Given the description of an element on the screen output the (x, y) to click on. 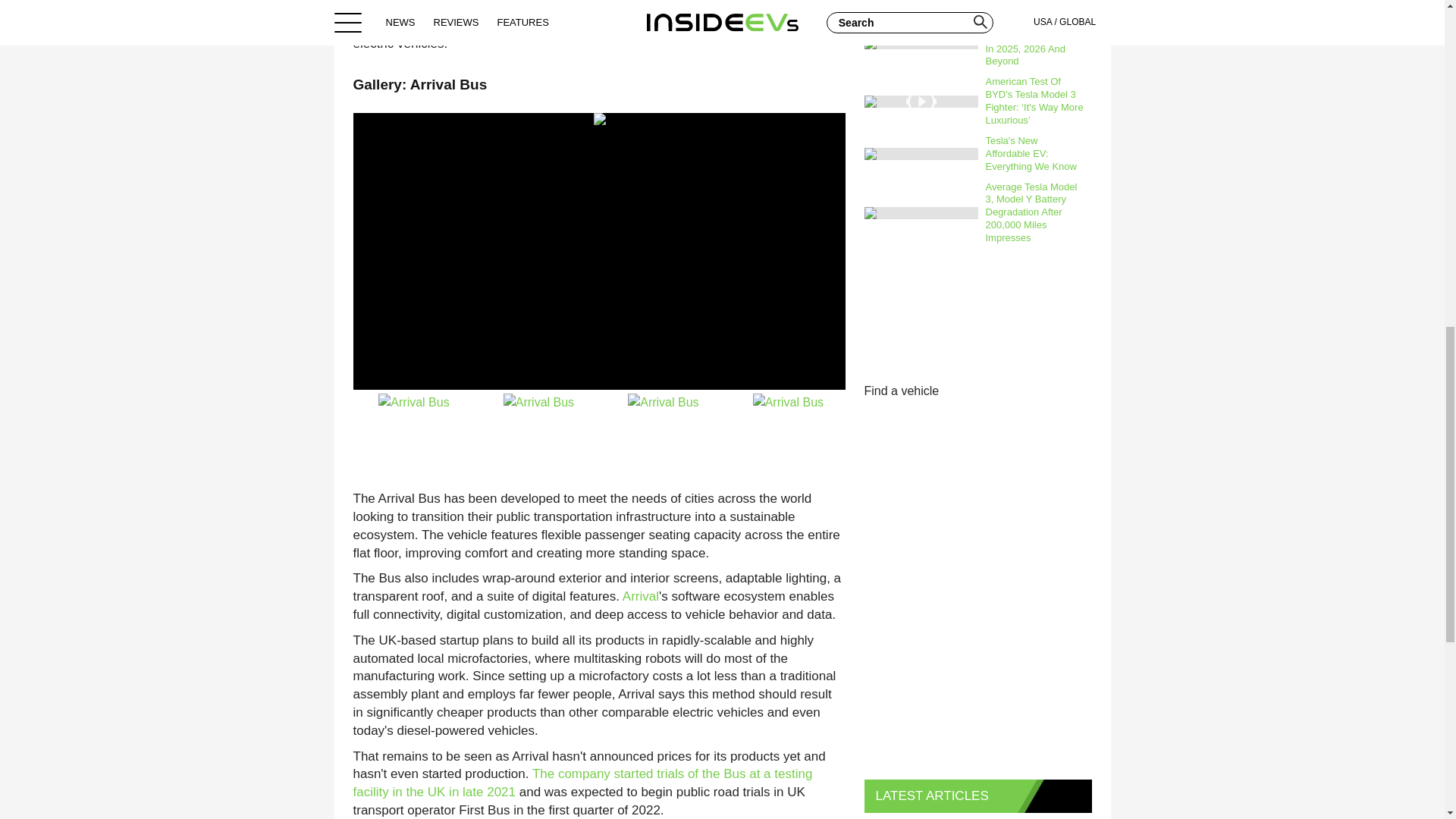
Arrival (641, 595)
